Given the description of an element on the screen output the (x, y) to click on. 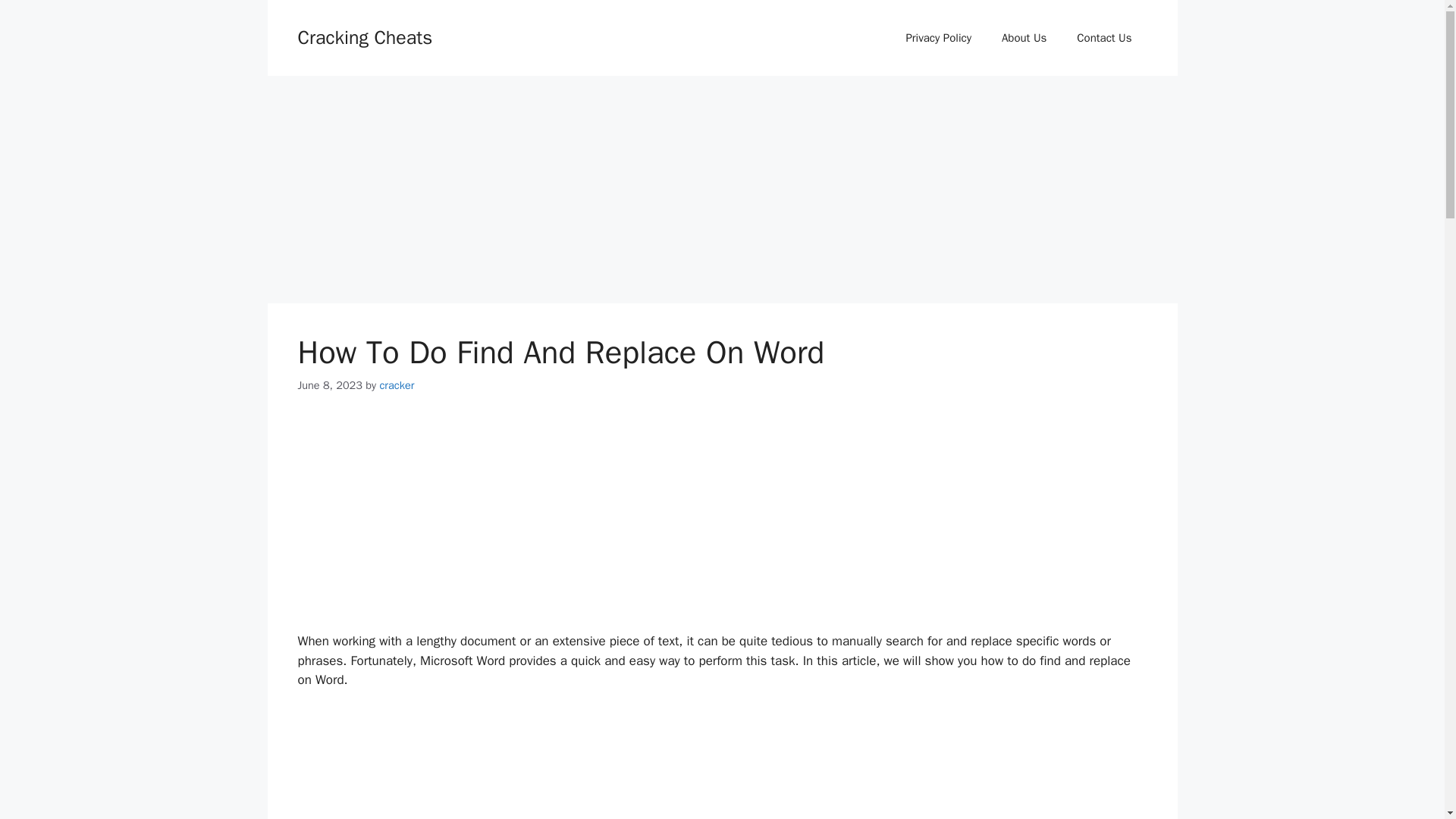
View all posts by cracker (395, 385)
Cracking Cheats (364, 37)
Contact Us (1104, 37)
About Us (1024, 37)
Privacy Policy (938, 37)
cracker (395, 385)
